Given the description of an element on the screen output the (x, y) to click on. 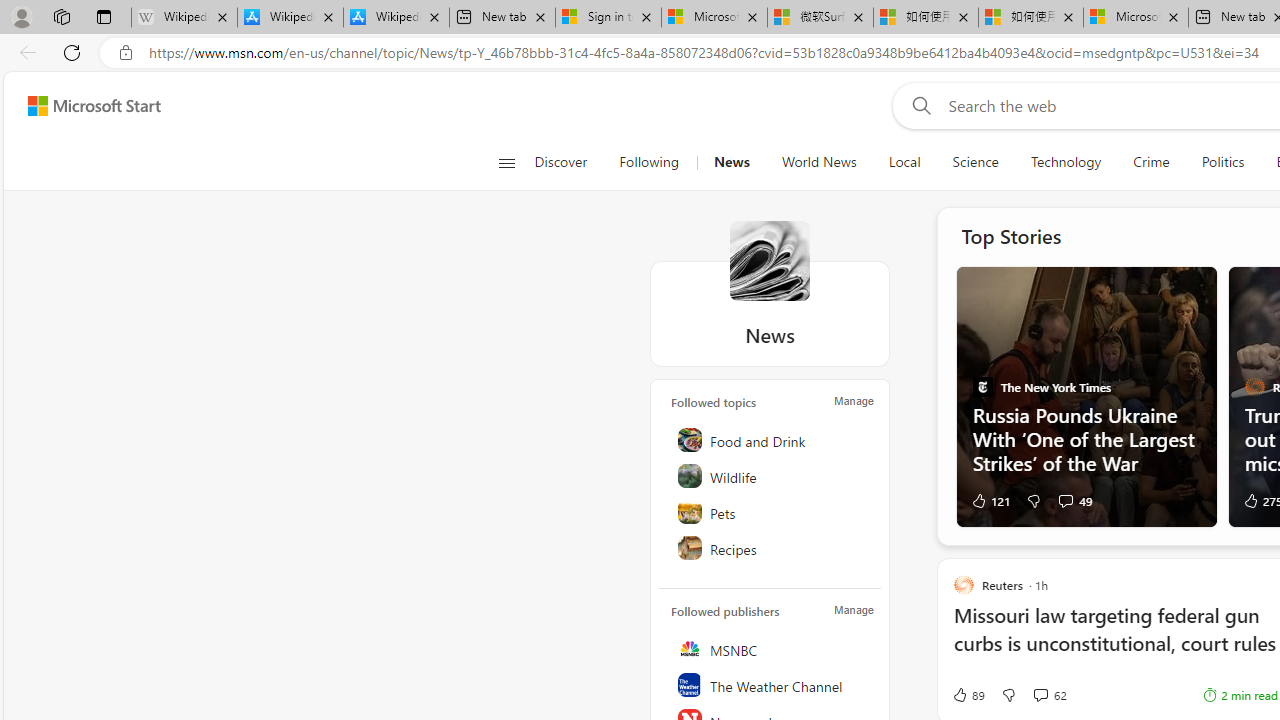
Discover (560, 162)
News (769, 260)
Crime (1150, 162)
Skip to footer (82, 105)
Food and Drink (771, 439)
Sign in to your Microsoft account (607, 17)
Pets (771, 511)
Microsoft account | Account Checkup (1135, 17)
Skip to content (86, 105)
News (731, 162)
Web search (917, 105)
Discover (568, 162)
